Given the description of an element on the screen output the (x, y) to click on. 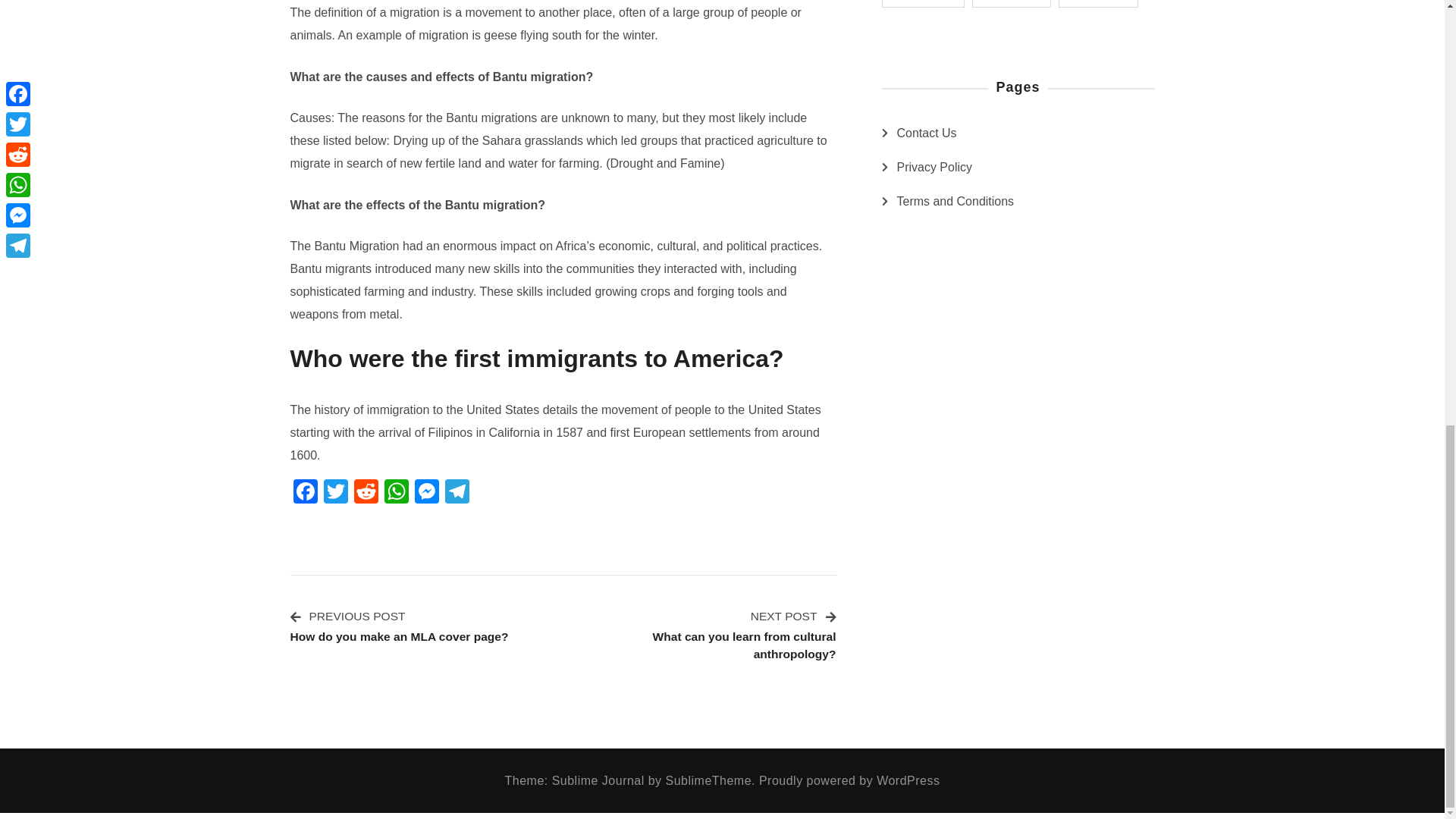
Facebook (304, 492)
Reddit (365, 492)
Twitter (335, 492)
Lifehacks (921, 3)
Reddit (365, 492)
Twitter (705, 634)
Telegram (335, 492)
WhatsApp (456, 492)
WhatsApp (395, 492)
Telegram (395, 492)
Facebook (456, 492)
Samples (304, 492)
Messenger (1011, 3)
